Given the description of an element on the screen output the (x, y) to click on. 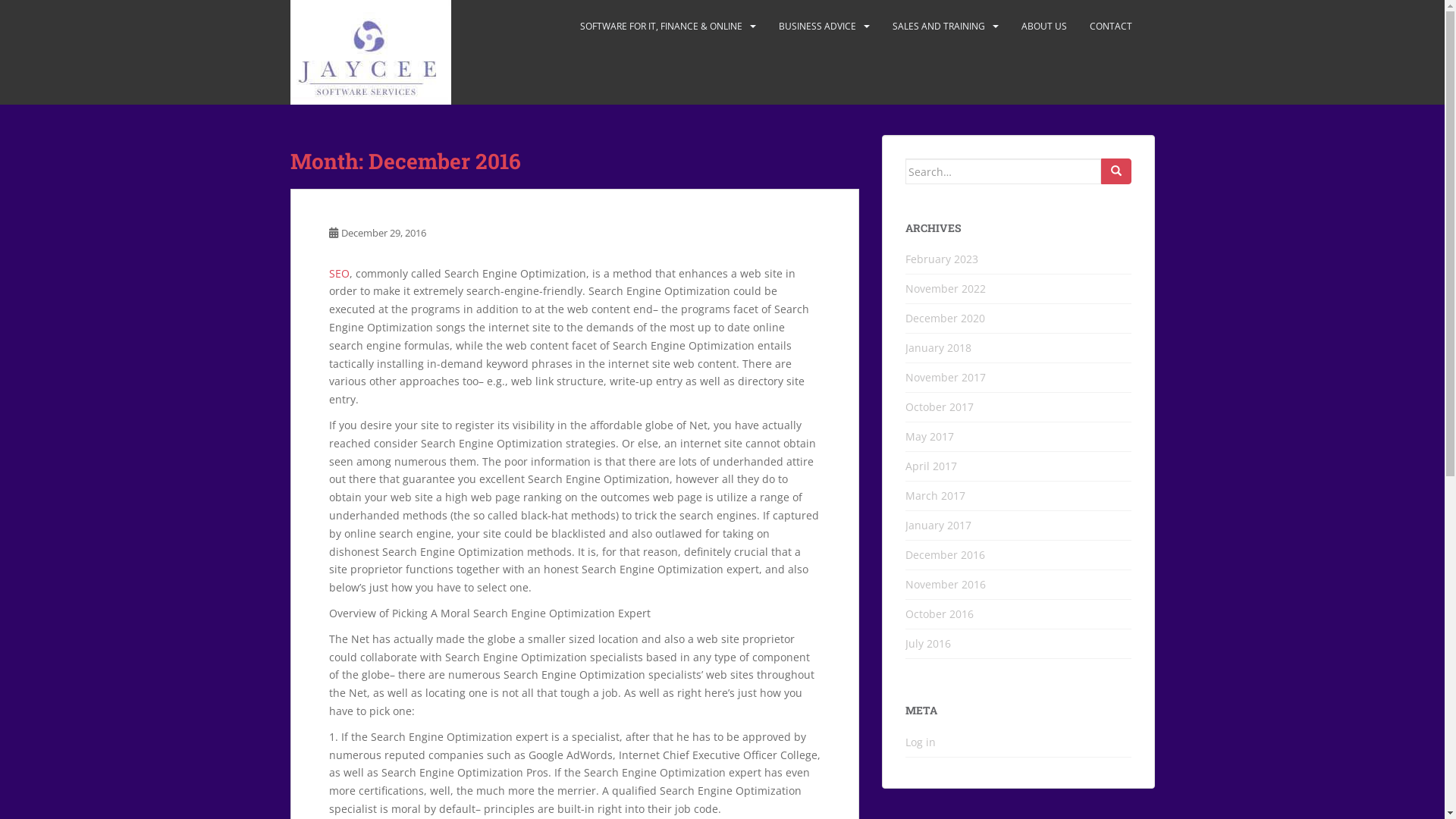
November 2016 Element type: text (945, 584)
Search for: Element type: hover (1003, 171)
December 2020 Element type: text (945, 317)
May 2017 Element type: text (929, 436)
October 2016 Element type: text (939, 613)
December 2016 Element type: text (945, 554)
Log in Element type: text (920, 741)
BUSINESS ADVICE Element type: text (816, 26)
November 2017 Element type: text (945, 377)
ABOUT US Element type: text (1043, 26)
November 2022 Element type: text (945, 288)
SALES AND TRAINING Element type: text (937, 26)
CONTACT Element type: text (1109, 26)
March 2017 Element type: text (935, 495)
July 2016 Element type: text (927, 643)
December 29, 2016 Element type: text (383, 232)
Search Element type: text (1116, 171)
October 2017 Element type: text (939, 406)
SOFTWARE FOR IT, FINANCE & ONLINE Element type: text (660, 26)
January 2017 Element type: text (938, 524)
February 2023 Element type: text (941, 258)
SEO Element type: text (339, 273)
April 2017 Element type: text (931, 465)
January 2018 Element type: text (938, 347)
